Given the description of an element on the screen output the (x, y) to click on. 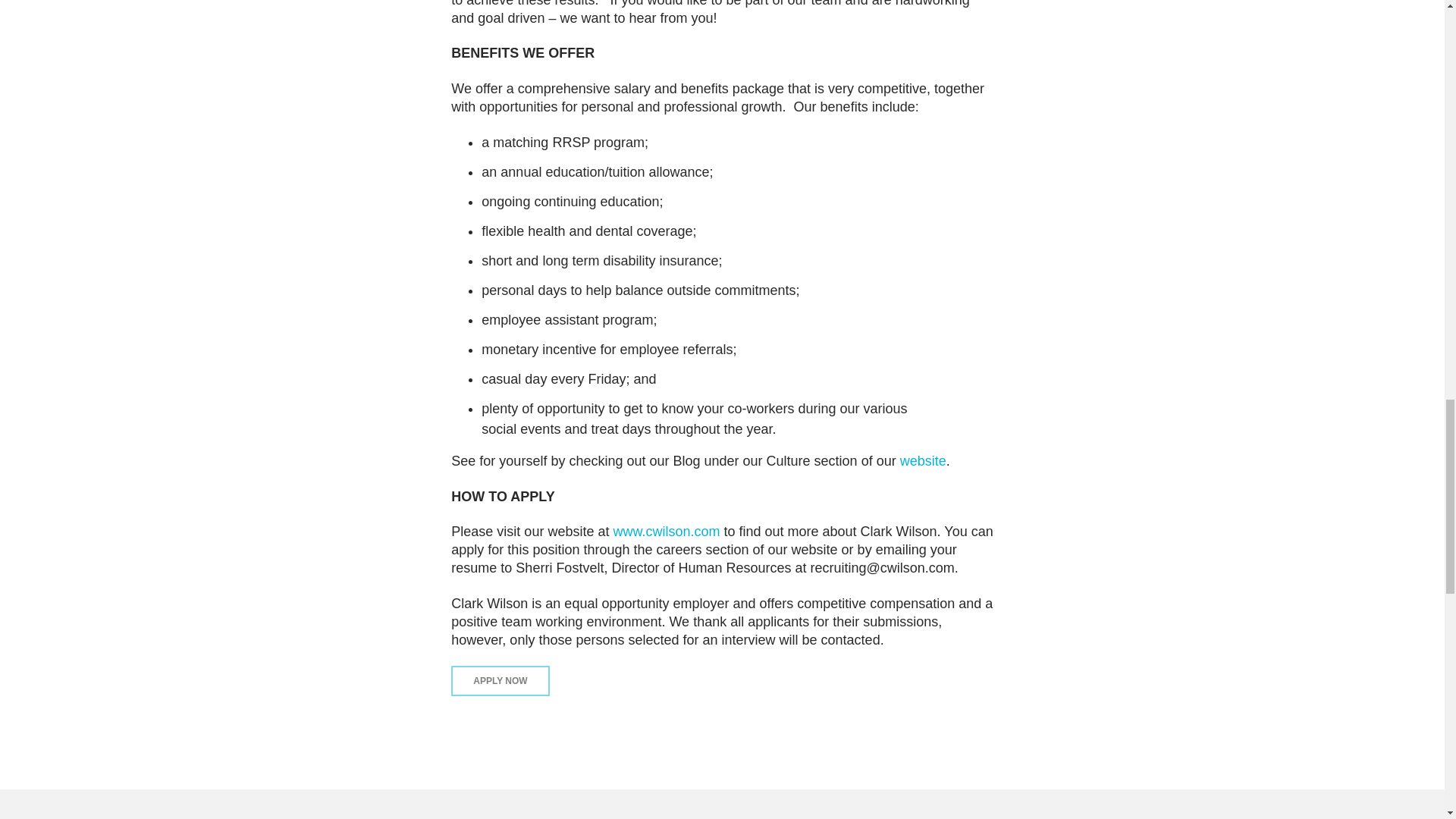
APPLY NOW (499, 679)
APPLY NOW (499, 680)
www.cwilson.com (665, 531)
website (922, 460)
